Given the description of an element on the screen output the (x, y) to click on. 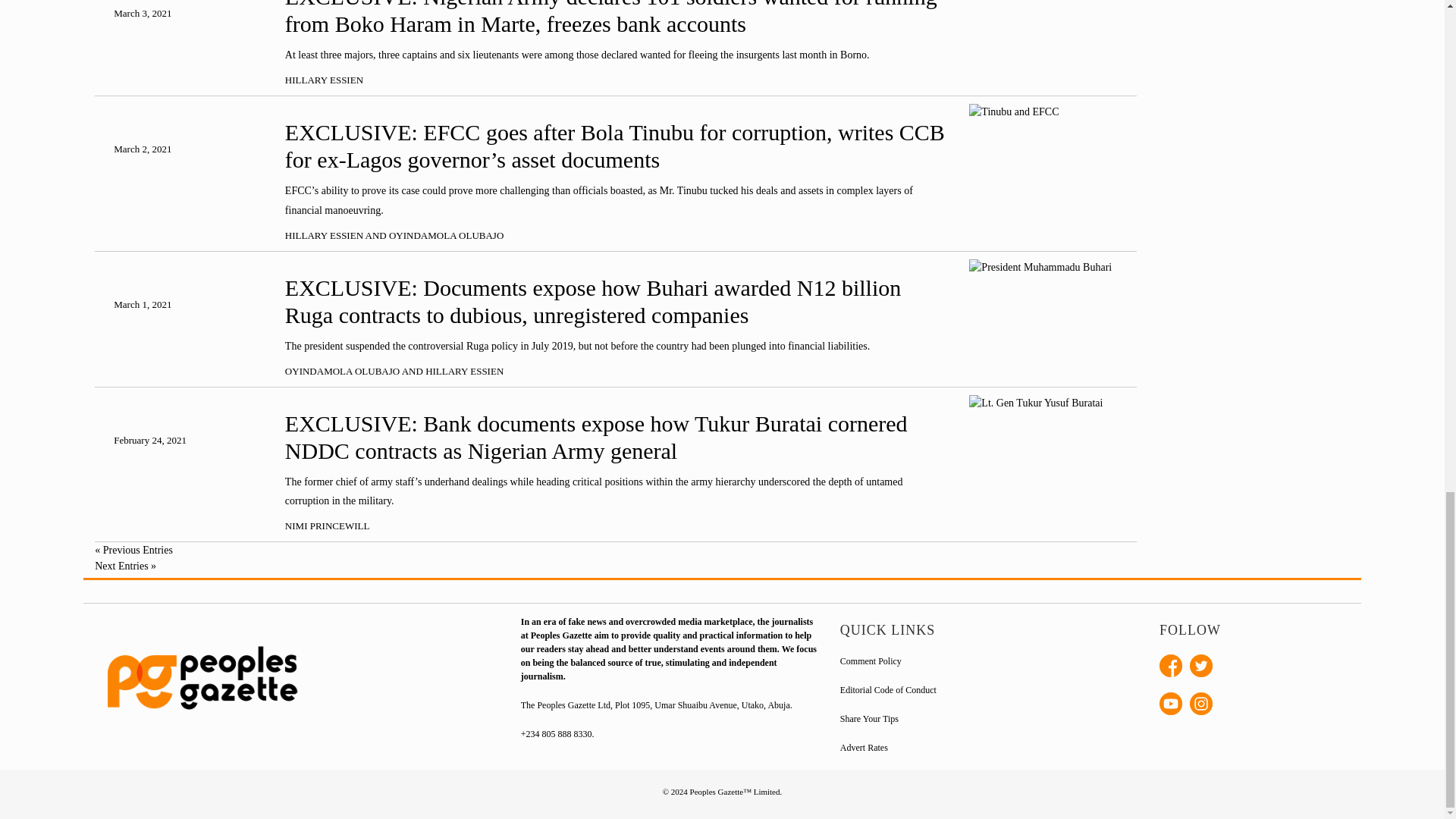
Posts by HILLARY ESSIEN (323, 235)
Posts by HILLARY ESSIEN (464, 370)
Posts by Oyindamola Olubajo (341, 370)
Posts by HILLARY ESSIEN (323, 79)
Posts by Oyindamola Olubajo (445, 235)
Posts by Nimi Princewill (327, 525)
